Given the description of an element on the screen output the (x, y) to click on. 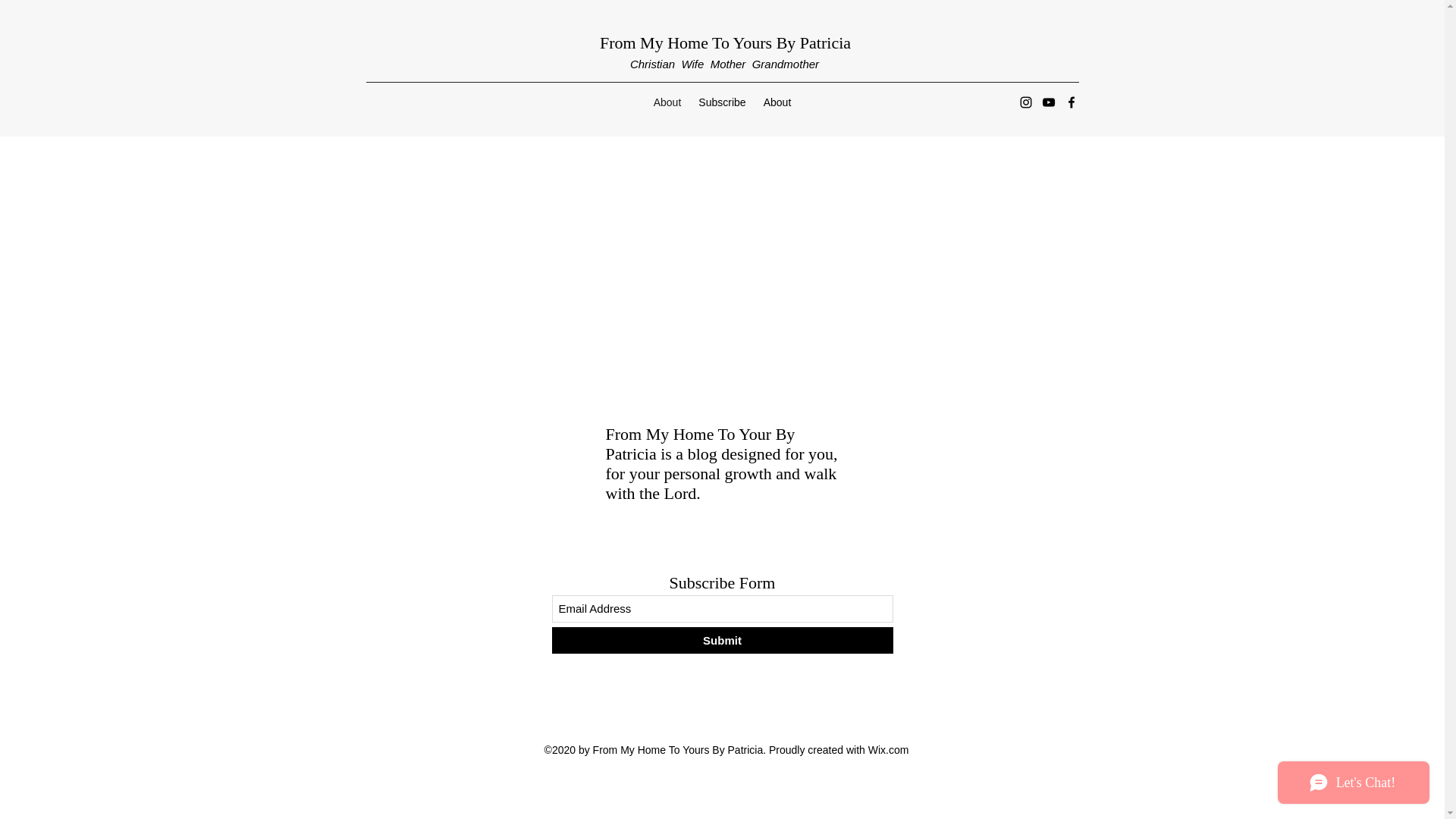
Subscribe (722, 101)
Submit (722, 640)
From My Home To Yours By Patricia (724, 42)
About (666, 101)
About (777, 101)
